Given the description of an element on the screen output the (x, y) to click on. 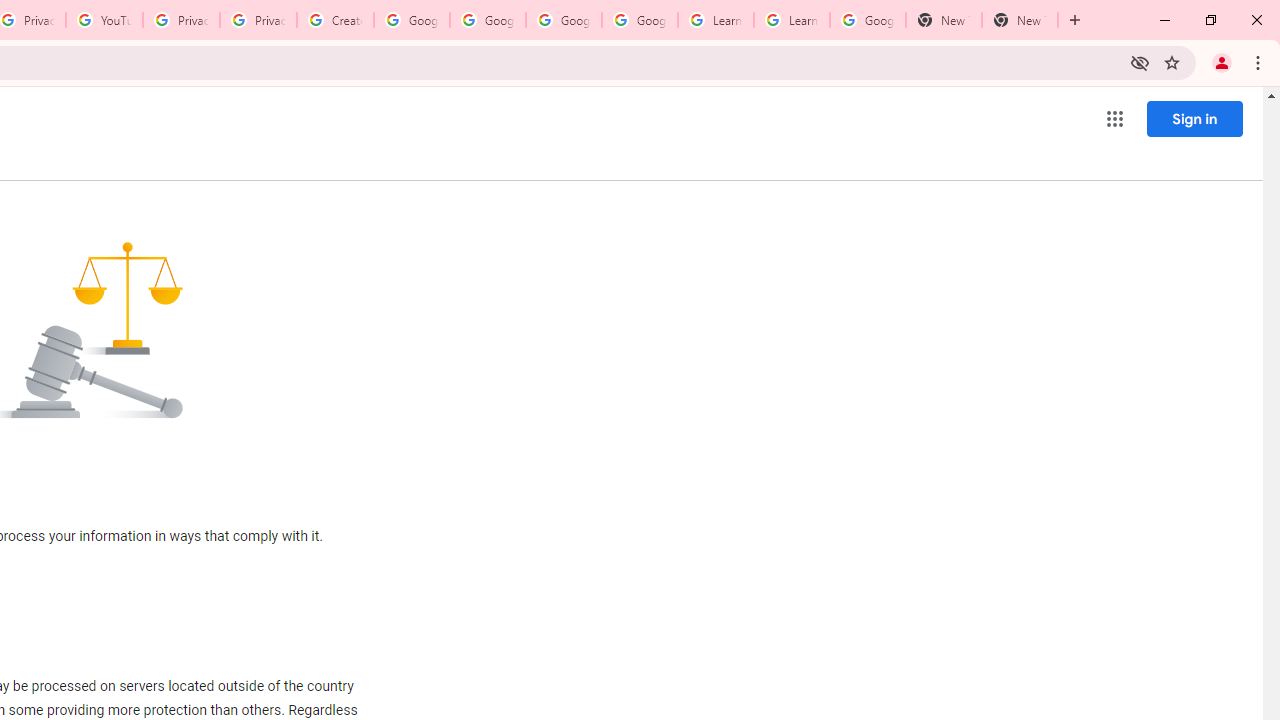
Google Account (867, 20)
Google Account Help (639, 20)
Google Account Help (488, 20)
New Tab (943, 20)
New Tab (1019, 20)
YouTube (104, 20)
